Given the description of an element on the screen output the (x, y) to click on. 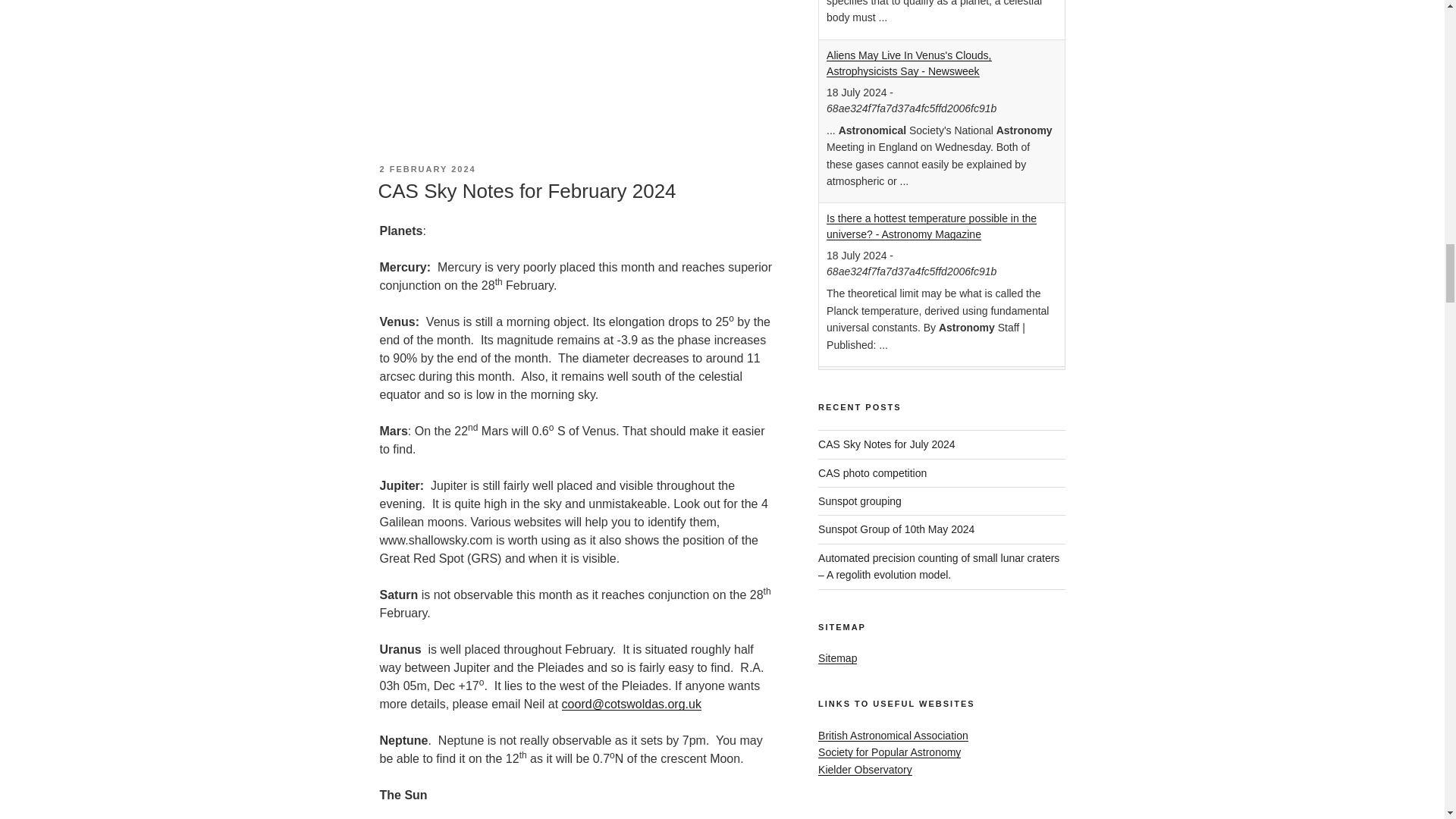
18 July 2024, 6:36 pm UTC (856, 255)
18 July 2024, 6:43 pm UTC (856, 92)
